Given the description of an element on the screen output the (x, y) to click on. 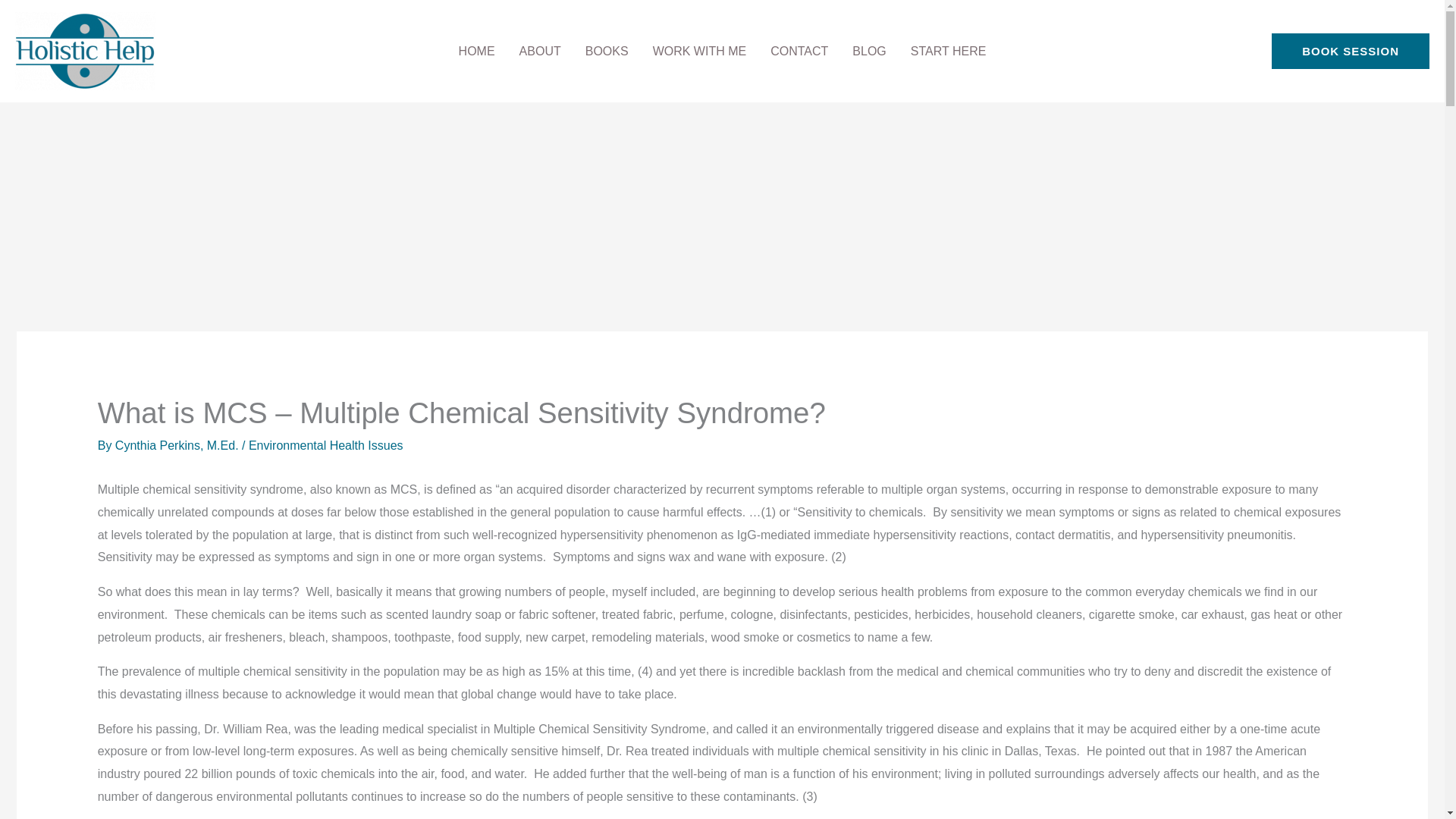
BOOK SESSION (1350, 51)
View all posts by Cynthia Perkins, M.Ed. (178, 445)
WORK WITH ME (699, 51)
Cynthia Perkins, M.Ed. (178, 445)
START HERE (948, 51)
CONTACT (799, 51)
Environmental Health Issues (325, 445)
